Given the description of an element on the screen output the (x, y) to click on. 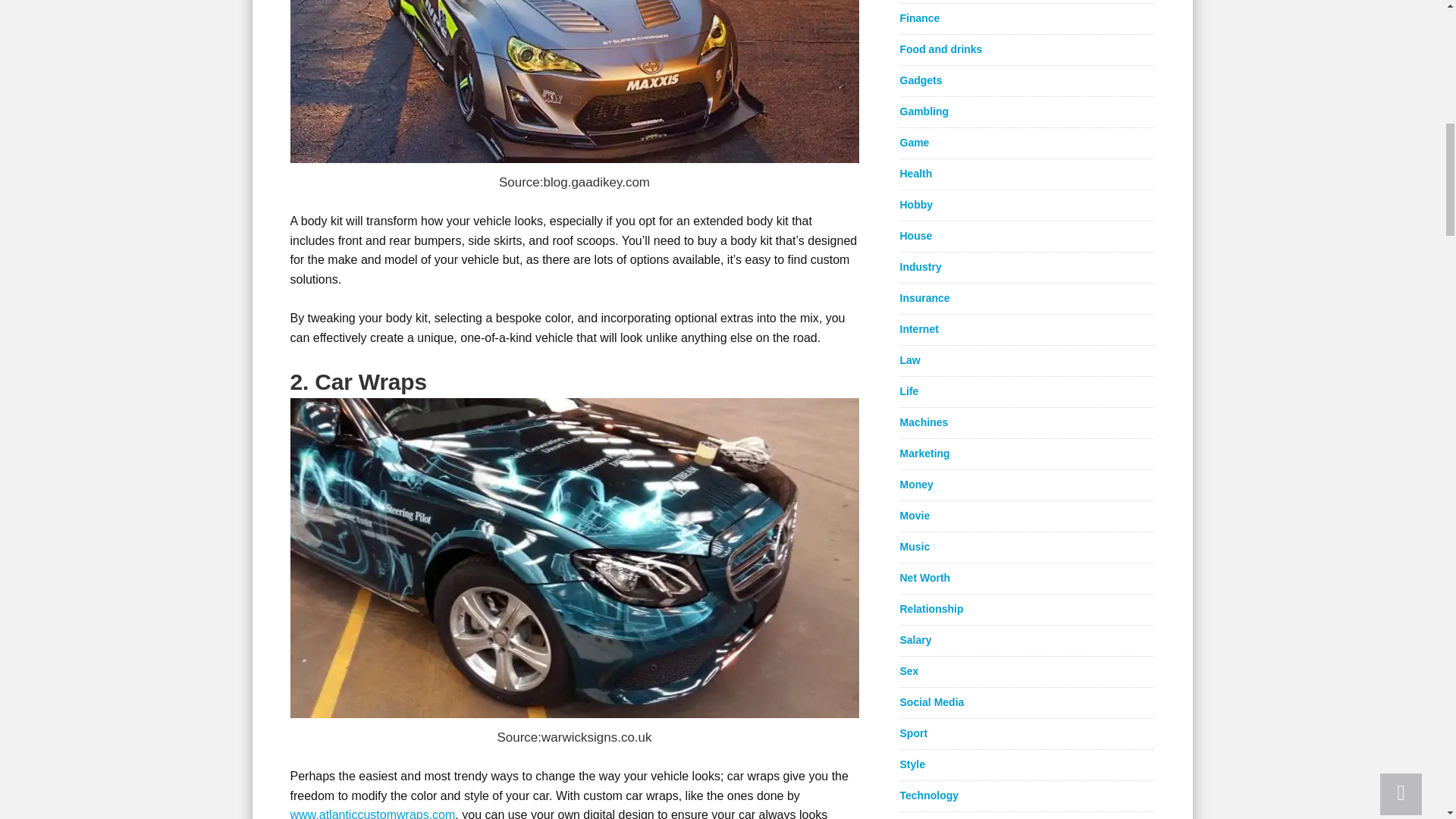
www.atlanticcustomwraps.com (371, 813)
